Given the description of an element on the screen output the (x, y) to click on. 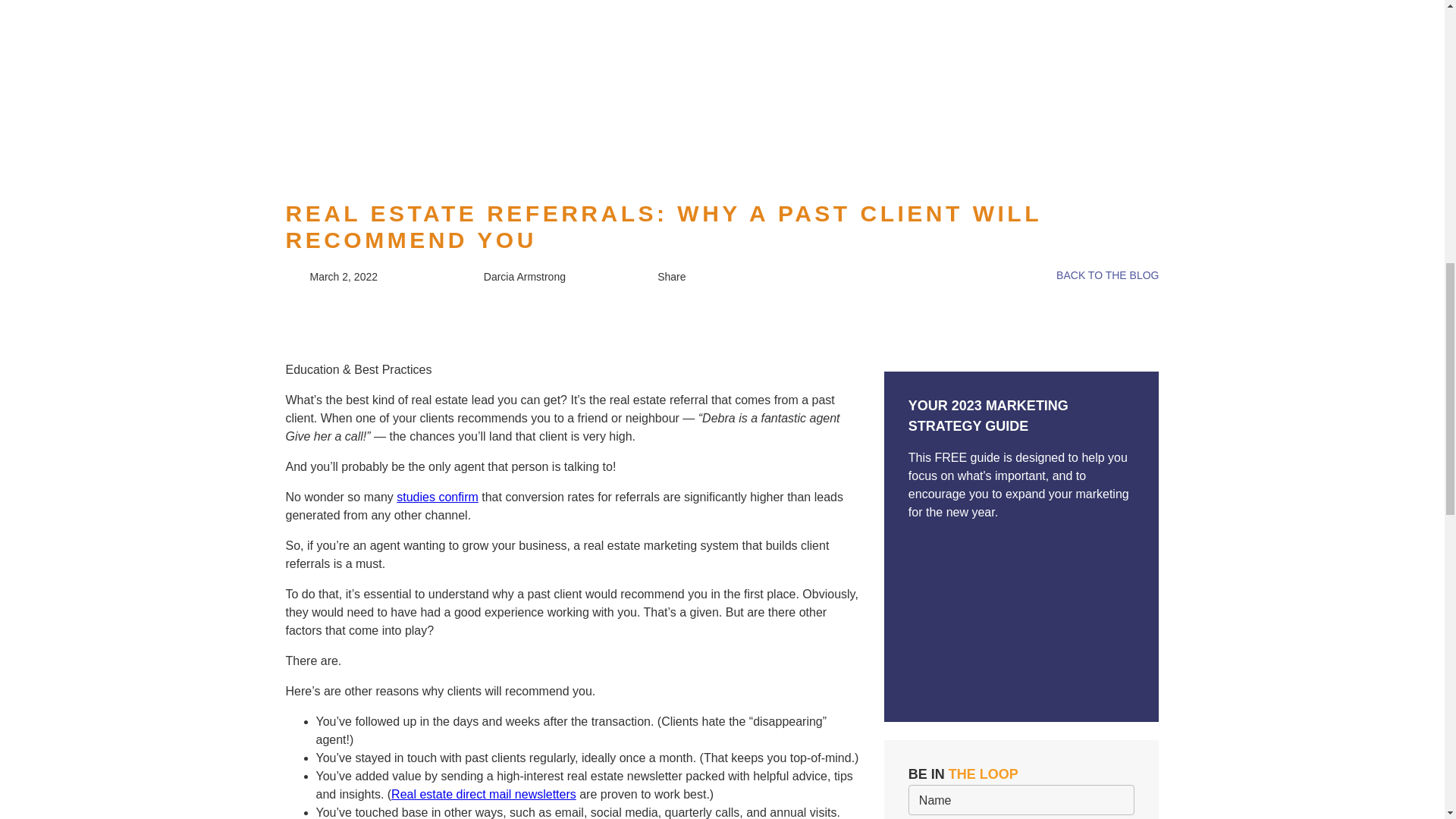
TWITTER (668, 314)
FACEBOOK (674, 290)
LINKEDIN (669, 337)
Real estate direct mail newsletters (483, 793)
BACK TO THE BLOG (1095, 277)
studies confirm (437, 496)
